Given the description of an element on the screen output the (x, y) to click on. 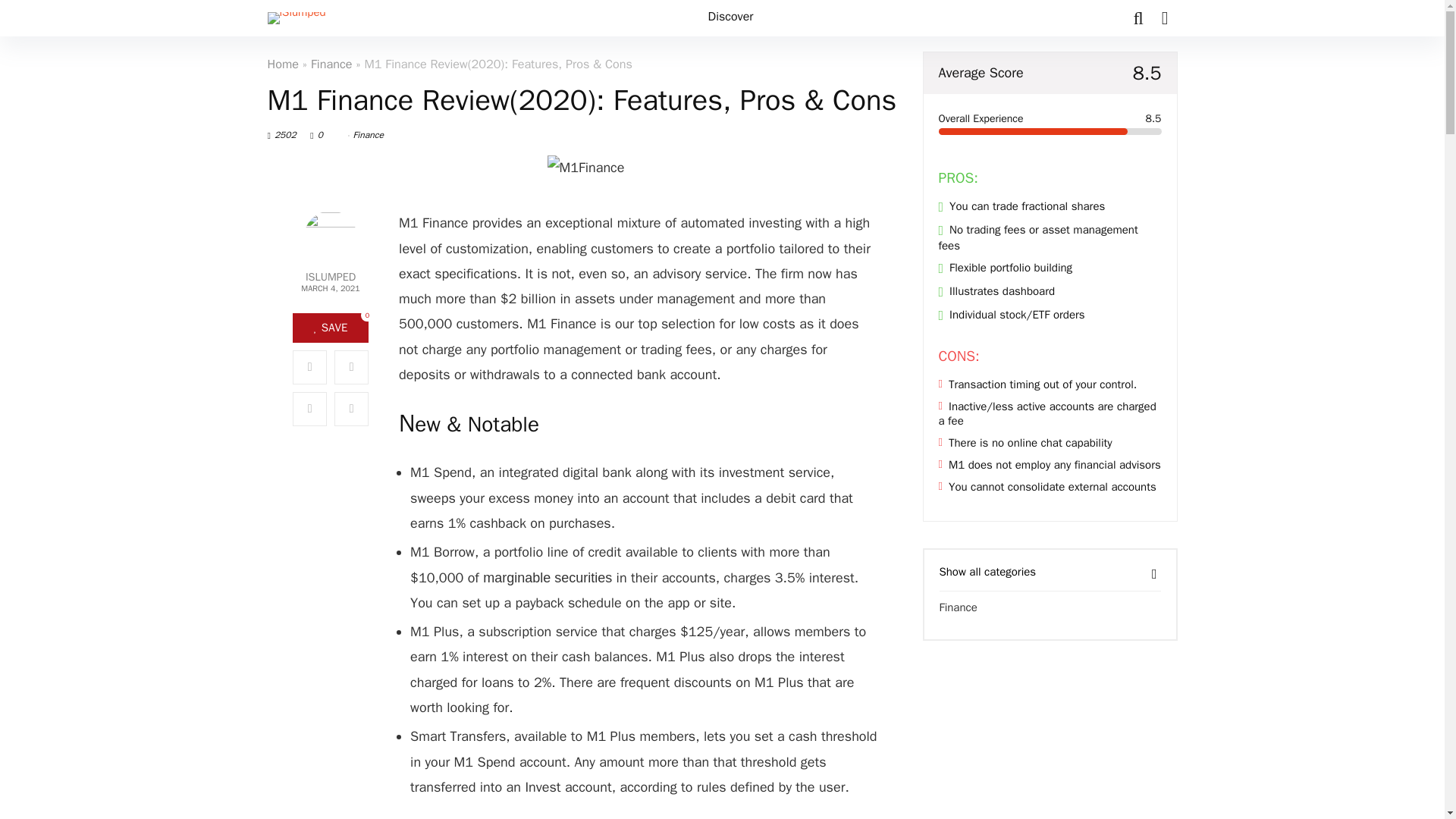
0 (325, 134)
ISLUMPED (330, 276)
Discover (730, 18)
Finance (331, 64)
View all posts in Finance (368, 134)
Home (282, 64)
Advertisement (1048, 743)
Finance (368, 134)
